Given the description of an element on the screen output the (x, y) to click on. 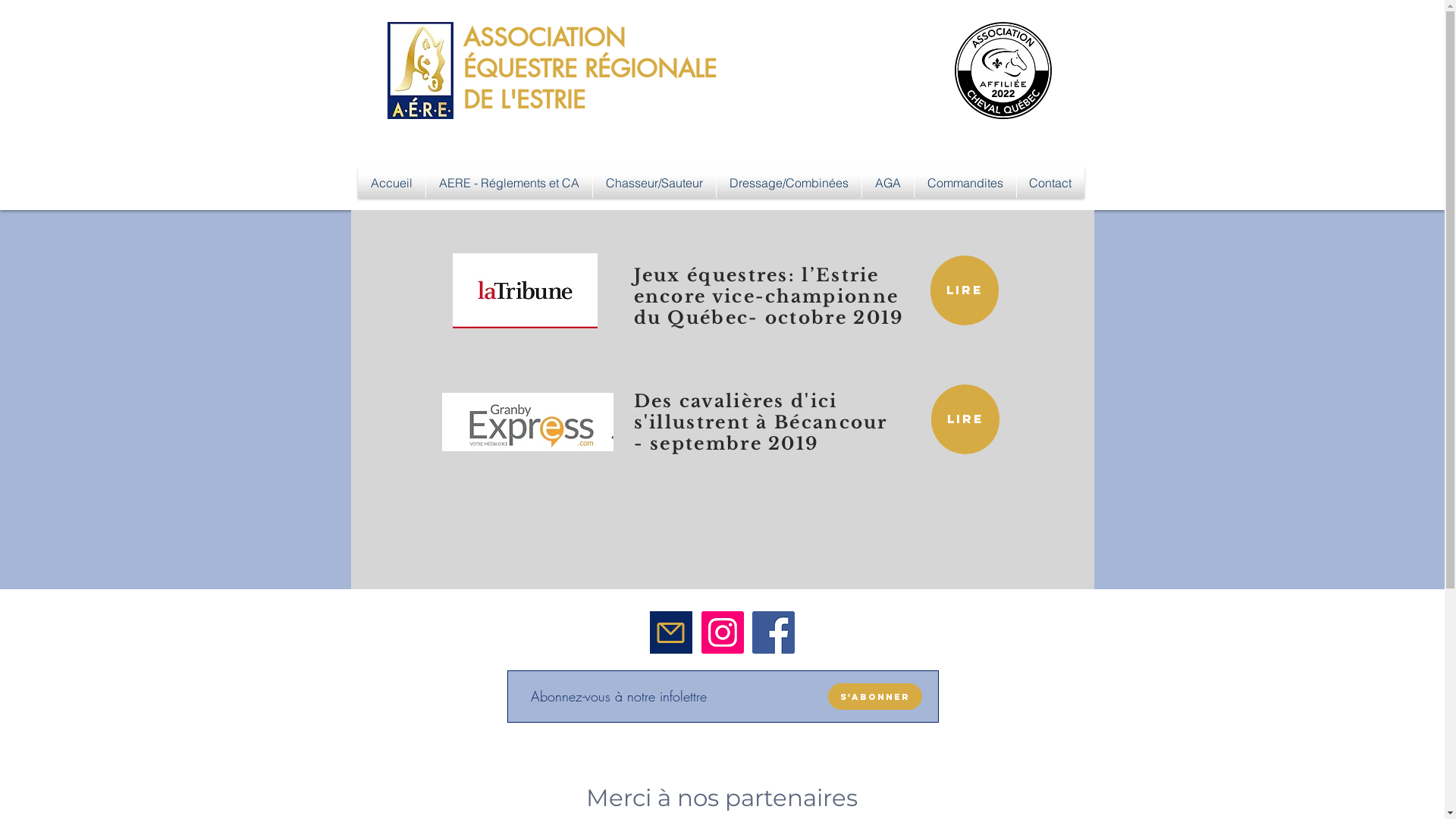
Lire Element type: text (965, 419)
AGA Element type: text (887, 182)
Accueil Element type: text (391, 182)
Chasseur/Sauteur Element type: text (654, 182)
Lire Element type: text (963, 290)
Contact Element type: text (1049, 182)
Commandites Element type: text (965, 182)
S'abonner Element type: text (875, 696)
